Given the description of an element on the screen output the (x, y) to click on. 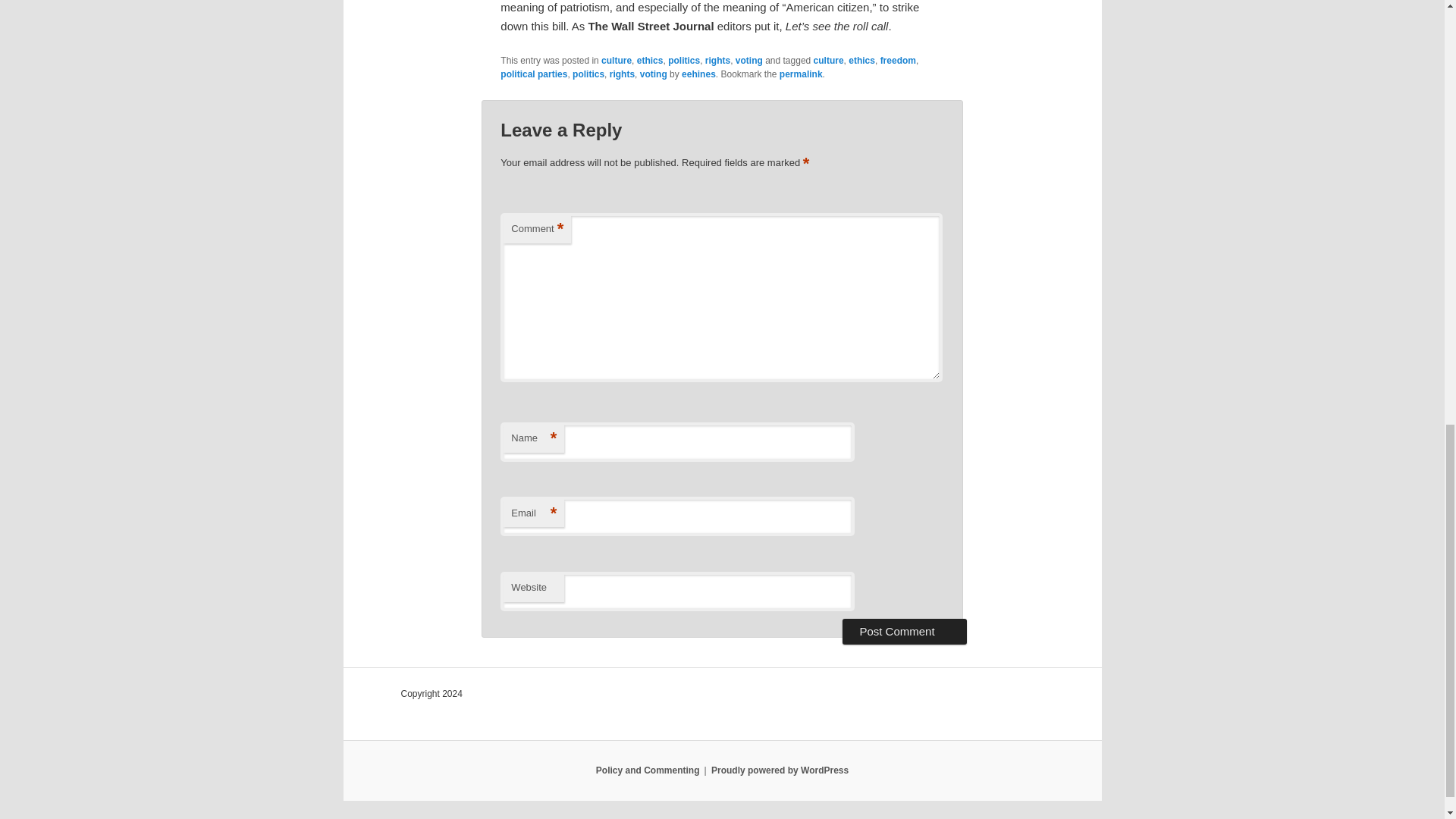
ethics (650, 60)
political parties (533, 73)
Post Comment (904, 631)
rights (622, 73)
permalink (800, 73)
Post Comment (904, 631)
culture (828, 60)
politics (684, 60)
politics (588, 73)
